Given the description of an element on the screen output the (x, y) to click on. 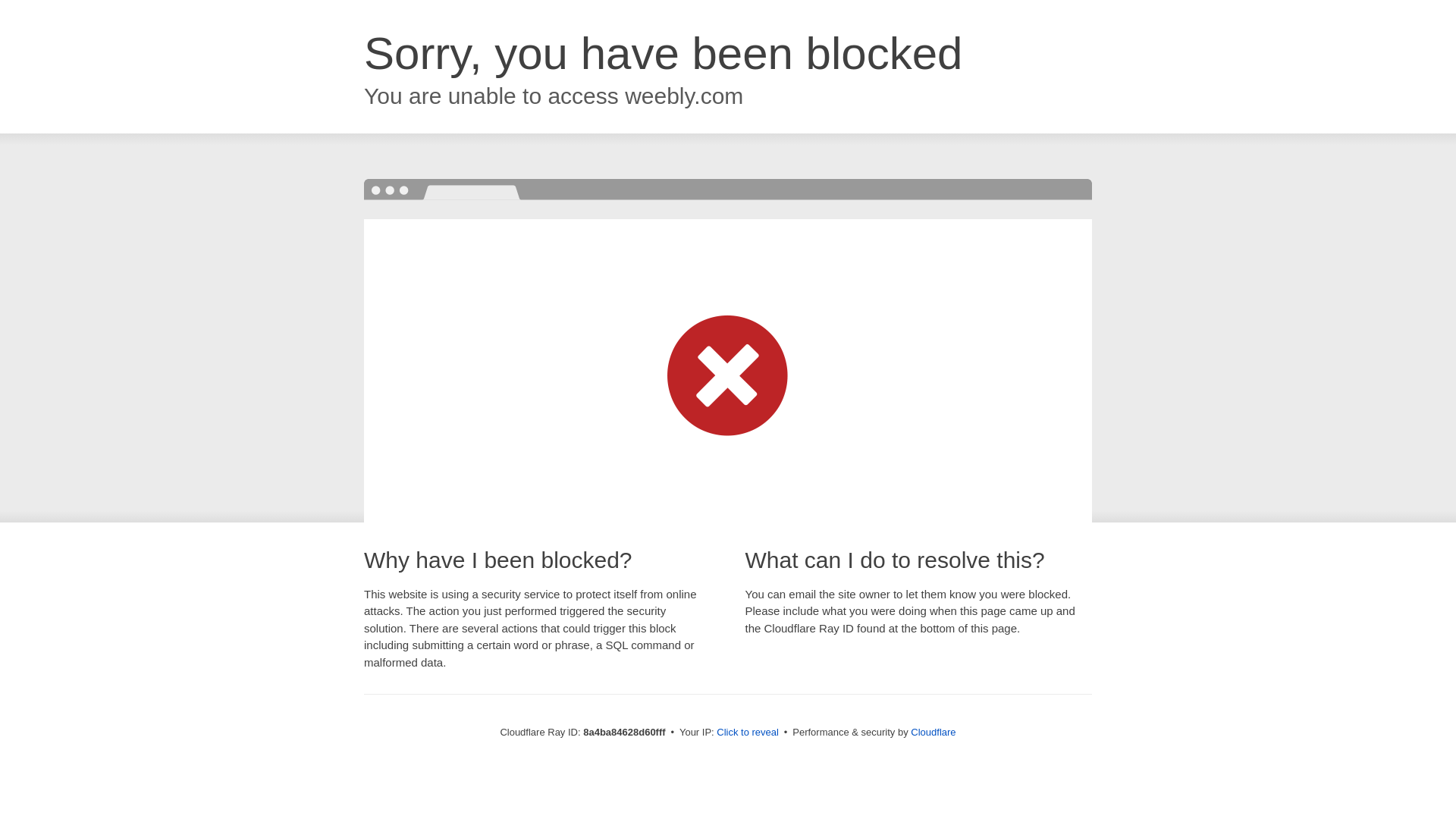
Cloudflare (933, 731)
Click to reveal (747, 732)
